Given the description of an element on the screen output the (x, y) to click on. 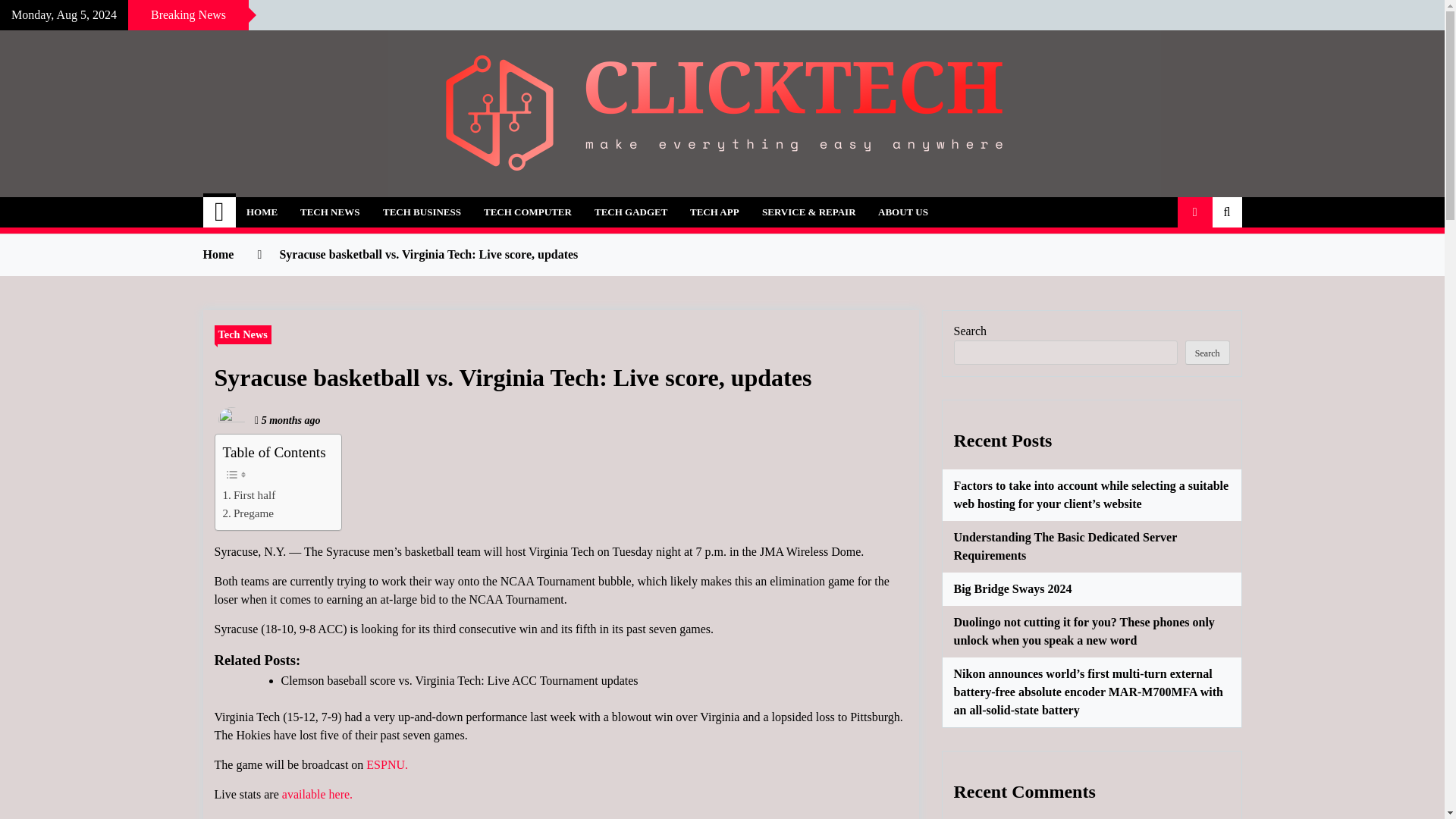
Pregame (248, 513)
ABOUT US (902, 212)
TECH APP (714, 212)
TECH COMPUTER (527, 212)
TECH NEWS (329, 212)
TECH BUSINESS (421, 212)
TECH GADGET (630, 212)
HOME (261, 212)
Home (219, 212)
Click For Tech (311, 203)
First half (249, 495)
